Given the description of an element on the screen output the (x, y) to click on. 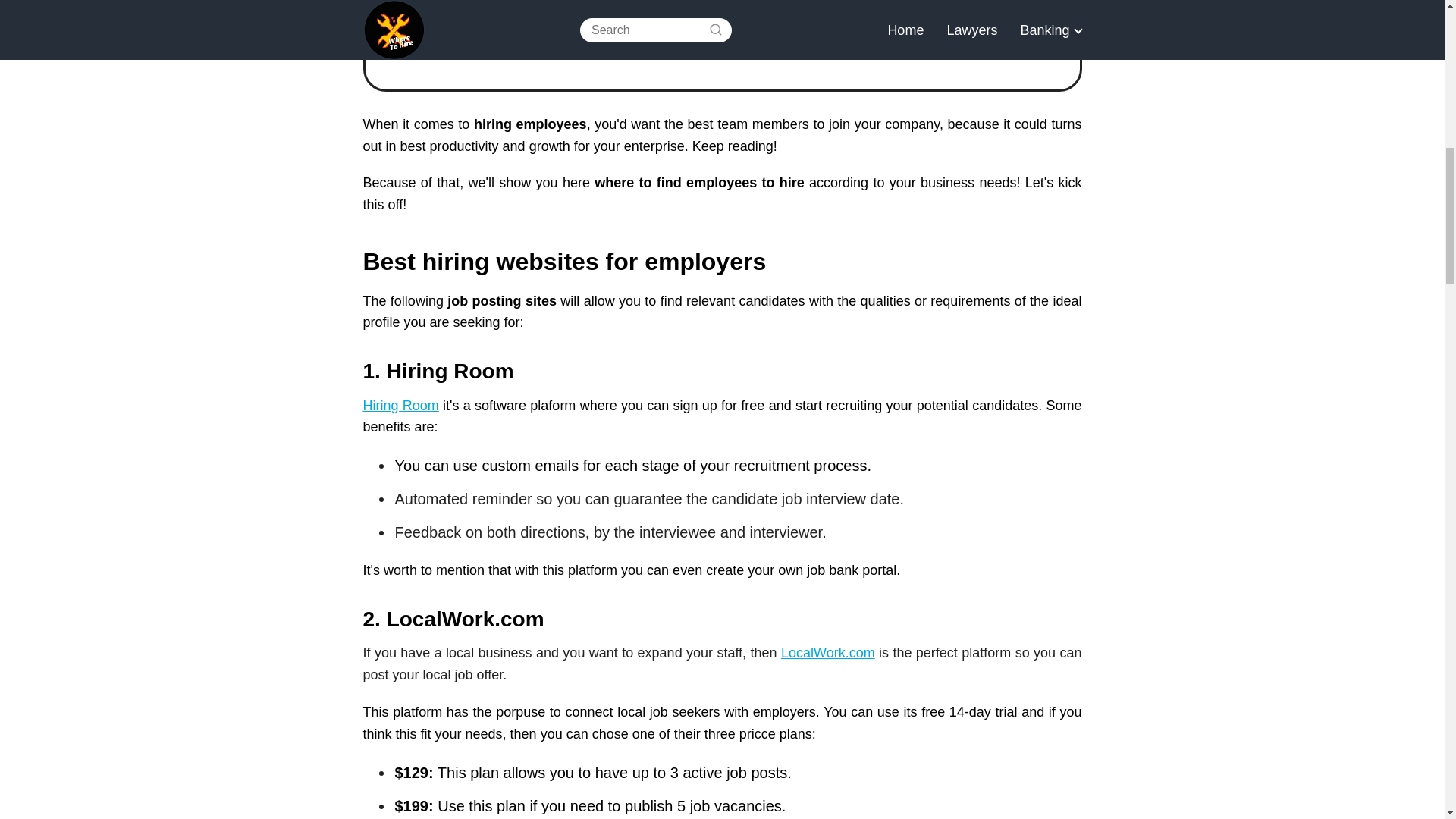
LocalWork.com (827, 652)
Hiring Room (400, 405)
